Given the description of an element on the screen output the (x, y) to click on. 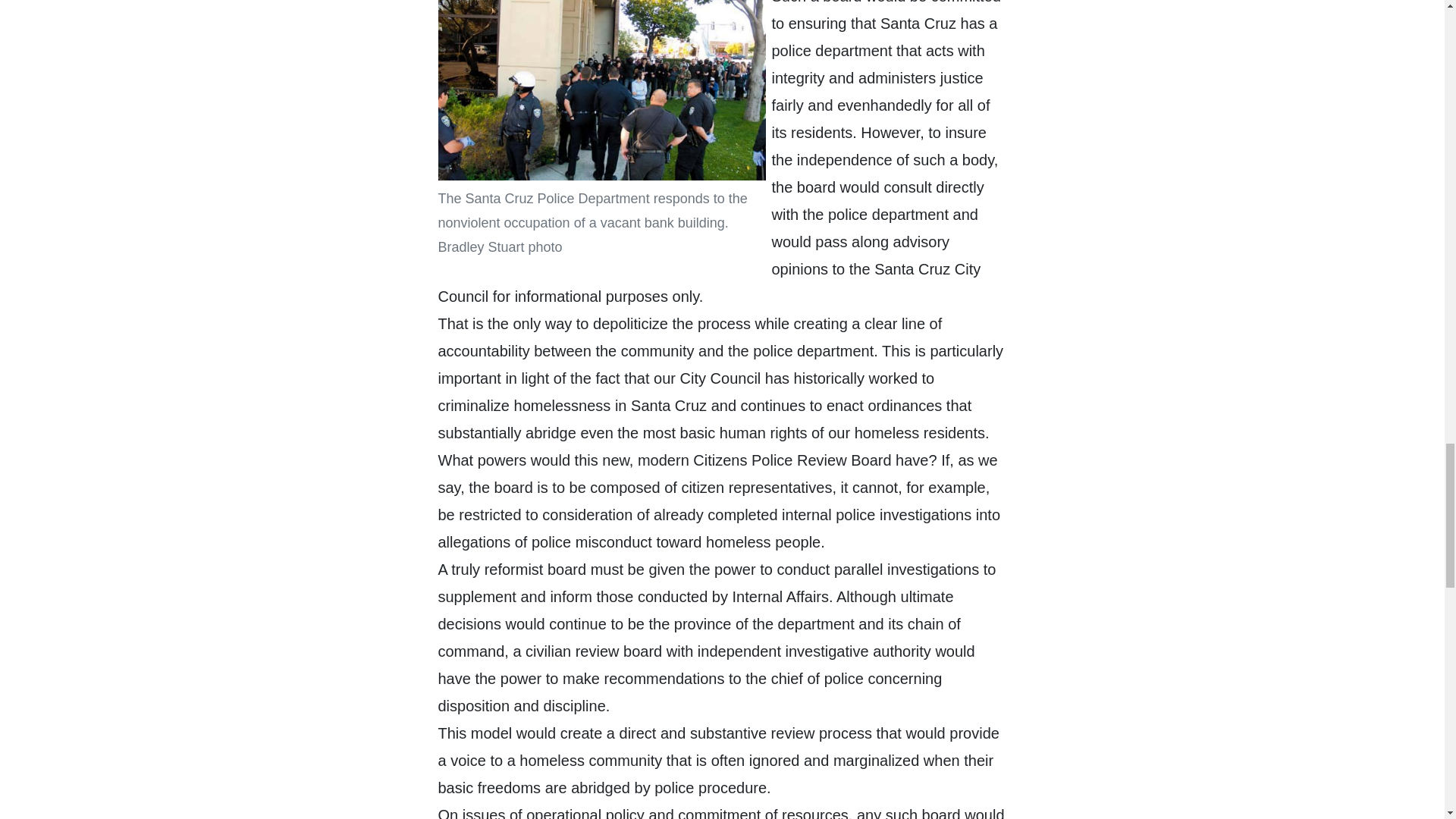
Cops (601, 90)
